Given the description of an element on the screen output the (x, y) to click on. 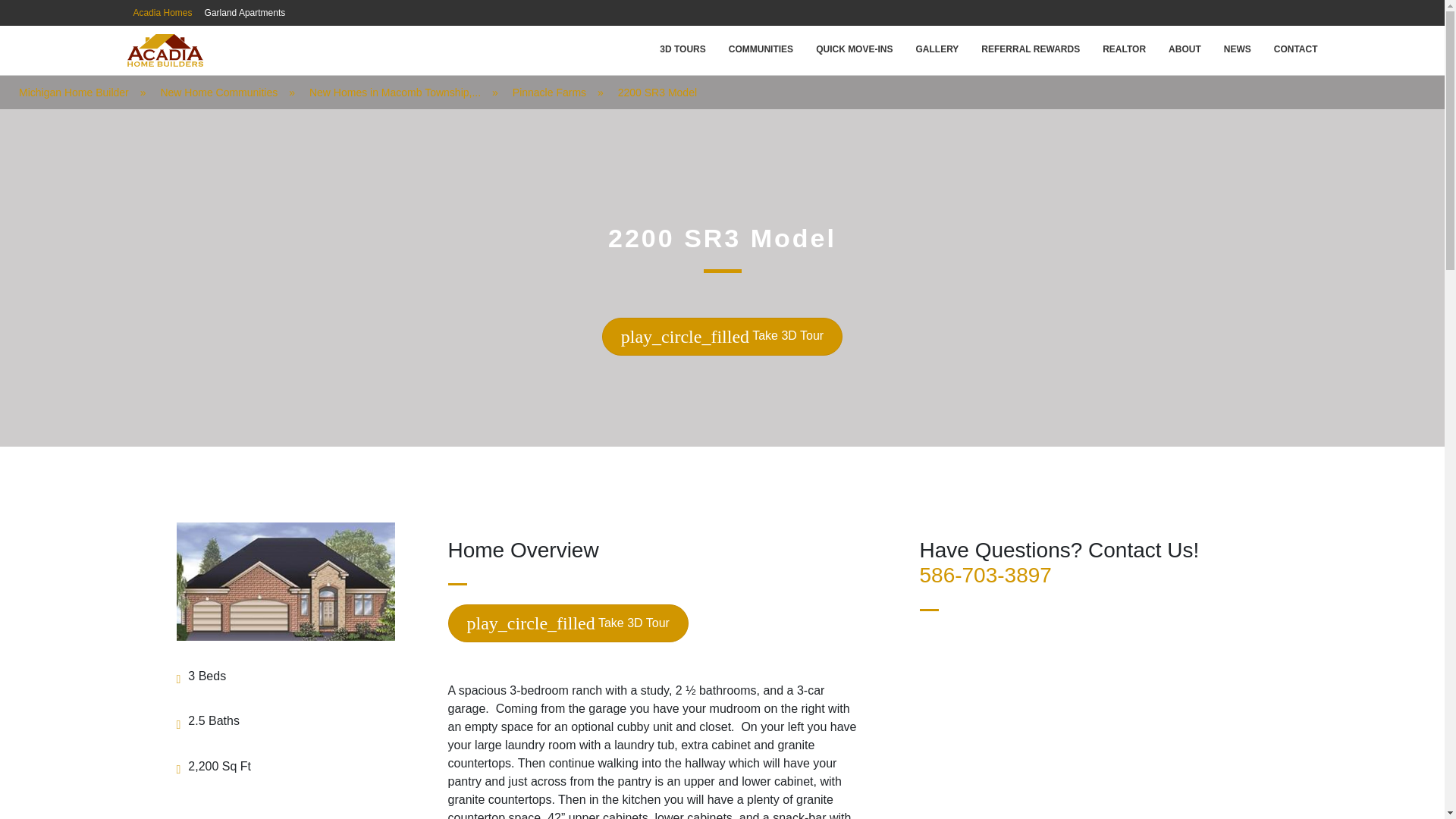
2200 SR3 Model (657, 92)
Garland Apartments (245, 12)
CONTACT (1295, 48)
REALTOR (1123, 48)
QUICK MOVE-INS (854, 48)
New Homes in Macomb Township, Michigan (394, 92)
New Home Communities (218, 92)
New Home Communities (218, 92)
REFERRAL REWARDS (1029, 48)
2200 SR3 Model (657, 92)
